Given the description of an element on the screen output the (x, y) to click on. 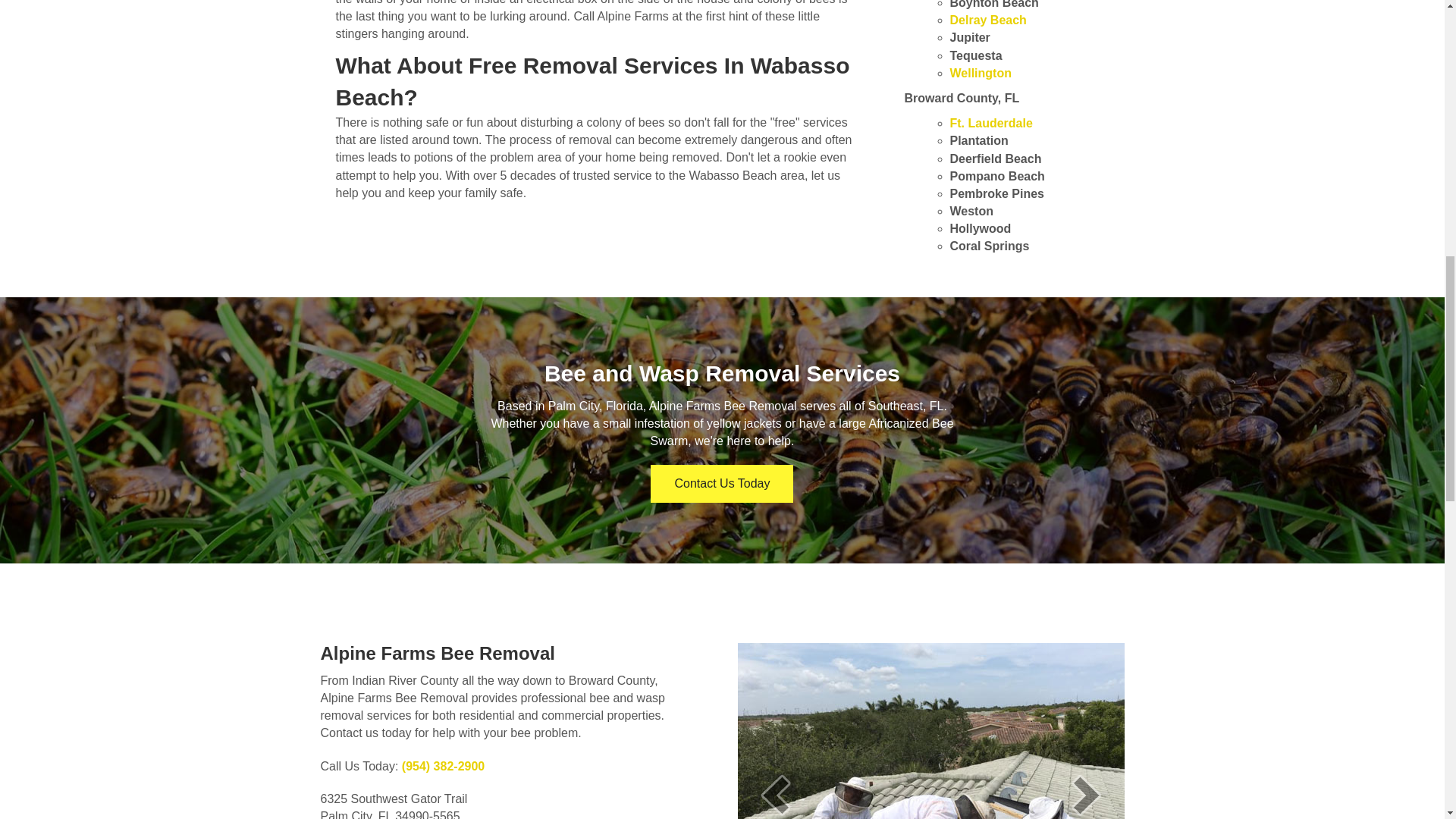
Click Here (721, 483)
Wellington (979, 72)
Delray Beach (987, 19)
Ft. Lauderdale (990, 123)
Contact Us Today (721, 483)
